Given the description of an element on the screen output the (x, y) to click on. 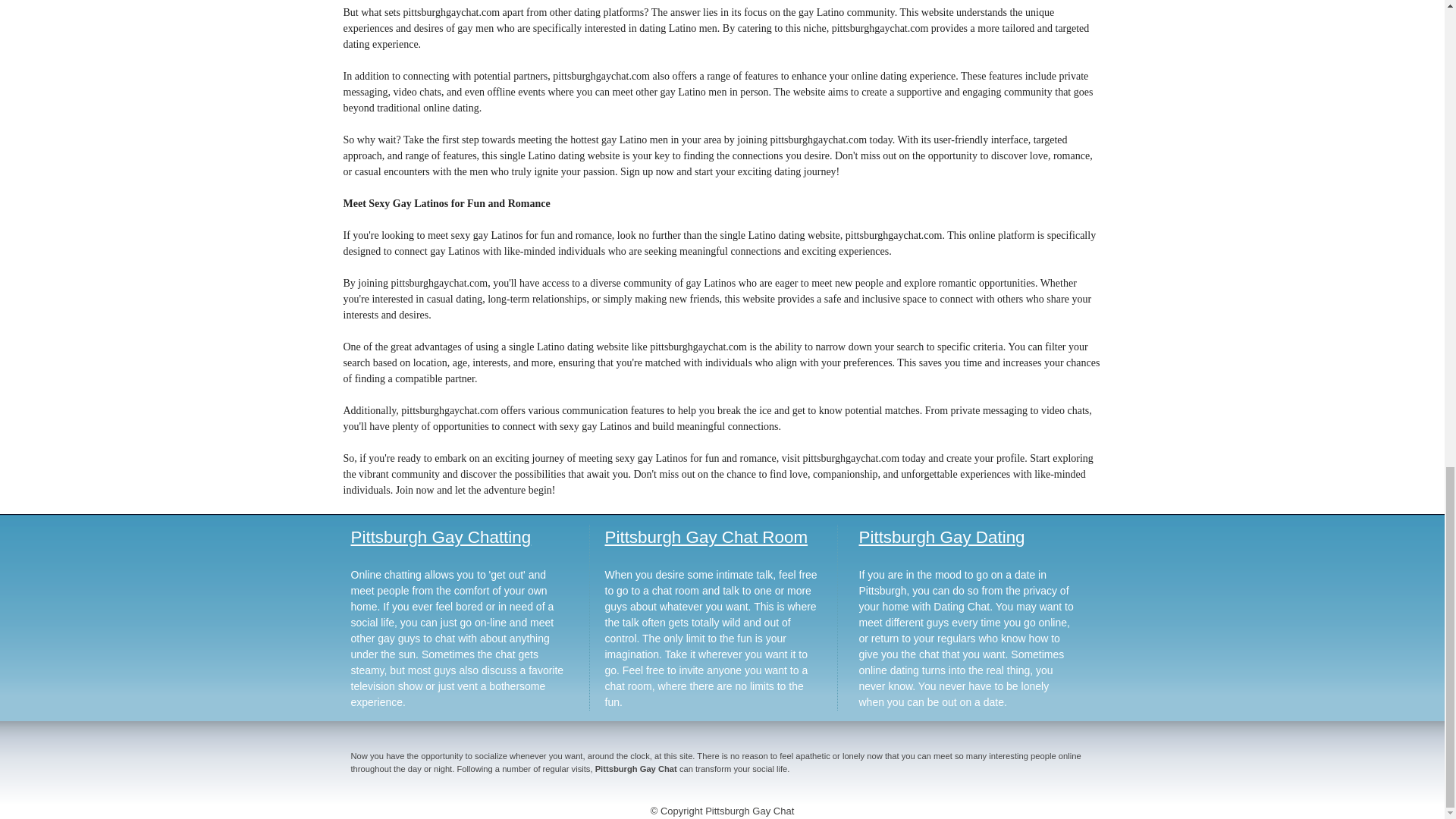
Pittsburgh Gay Chatting (440, 537)
Pittsburgh Gay Dating (942, 537)
Pittsburgh Gay Chat Room (706, 537)
